Given the description of an element on the screen output the (x, y) to click on. 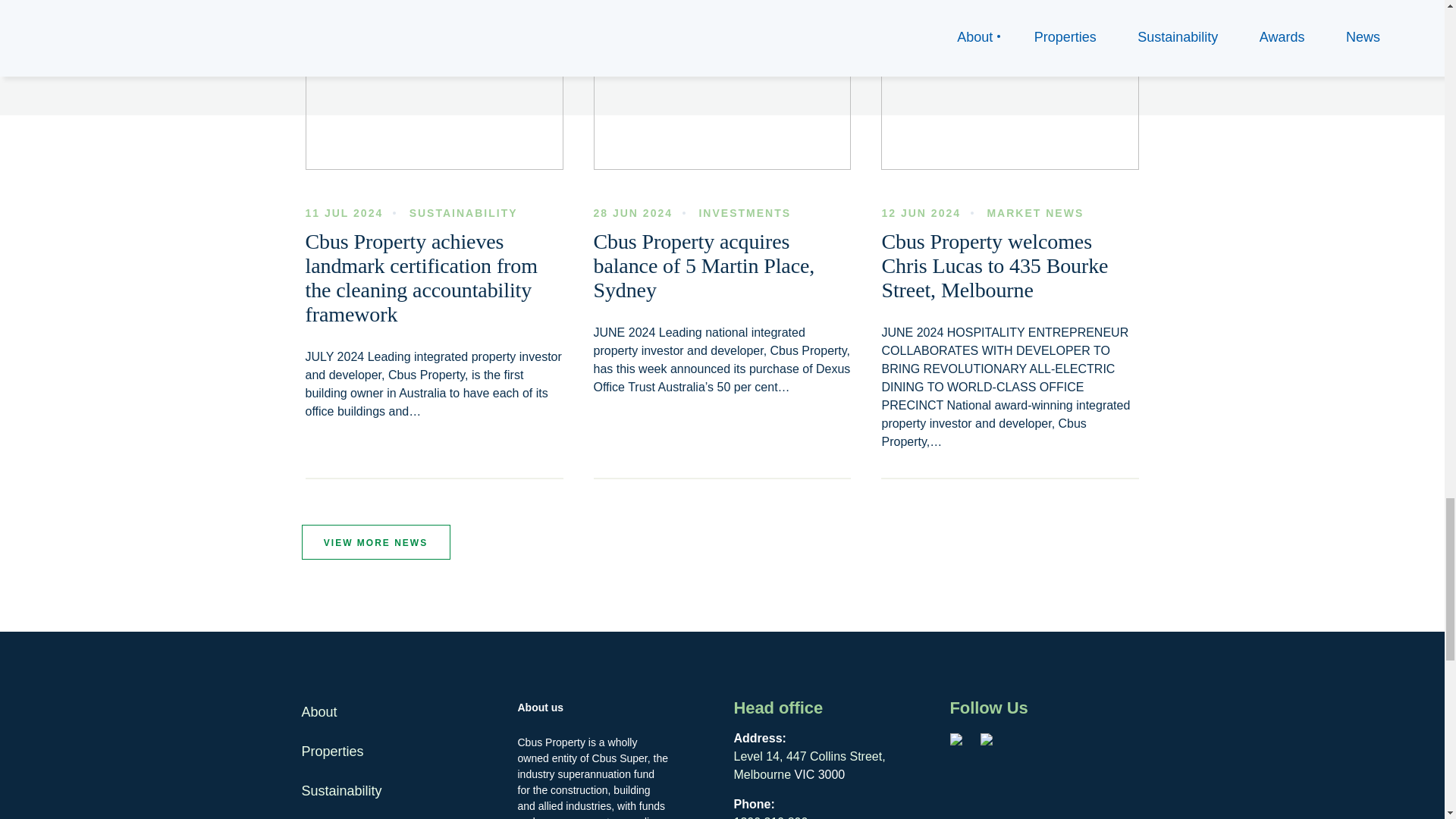
Level 14, 447 Collins Street, (809, 756)
Properties (332, 752)
1300 319 890 (770, 817)
Melbourne (762, 774)
About (319, 711)
VIEW MORE NEWS (375, 541)
Sustainability (341, 791)
